Given the description of an element on the screen output the (x, y) to click on. 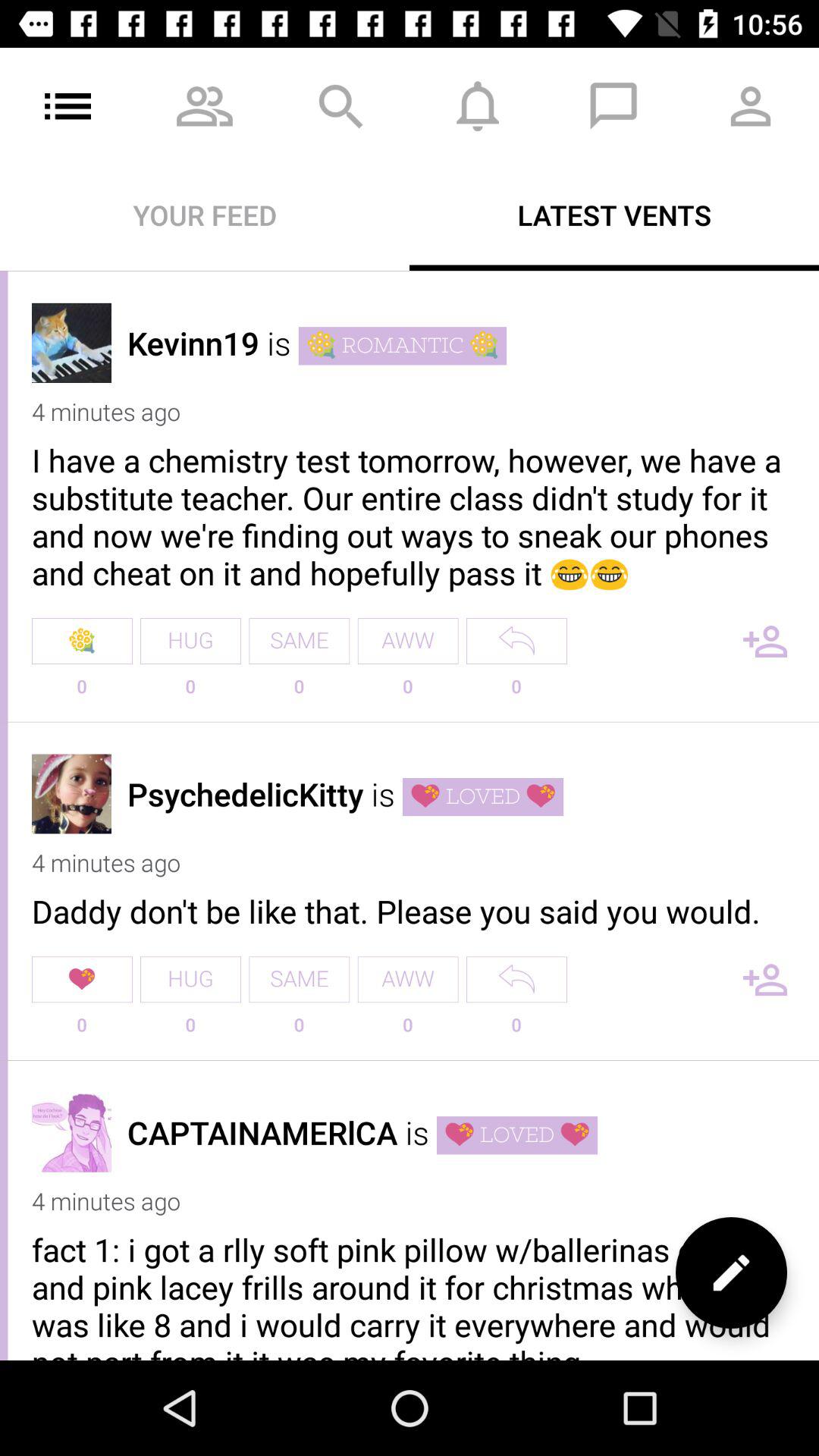
go back (516, 979)
